Given the description of an element on the screen output the (x, y) to click on. 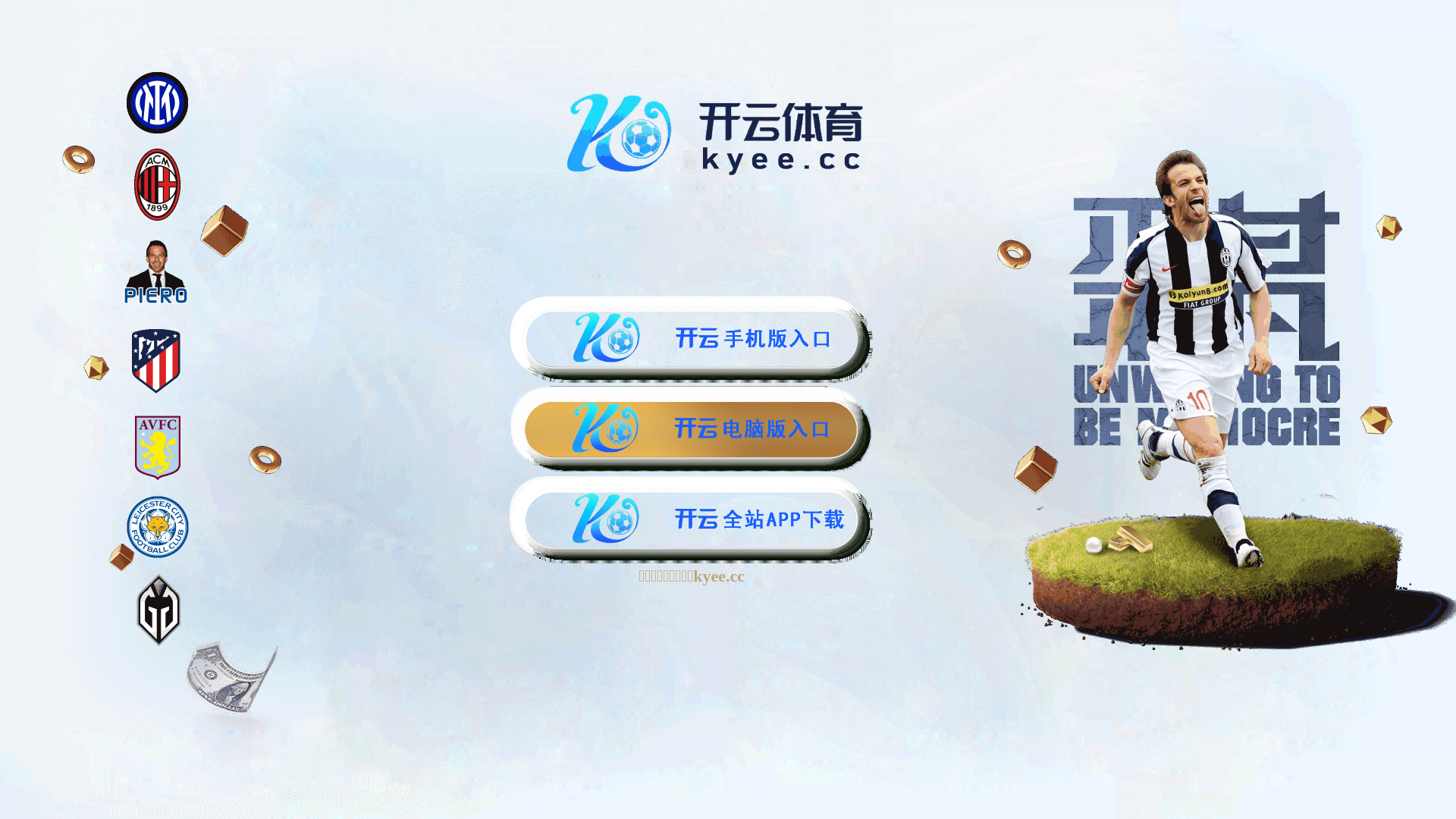
www.eastpump.png Element type: hover (73, 39)
